Given the description of an element on the screen output the (x, y) to click on. 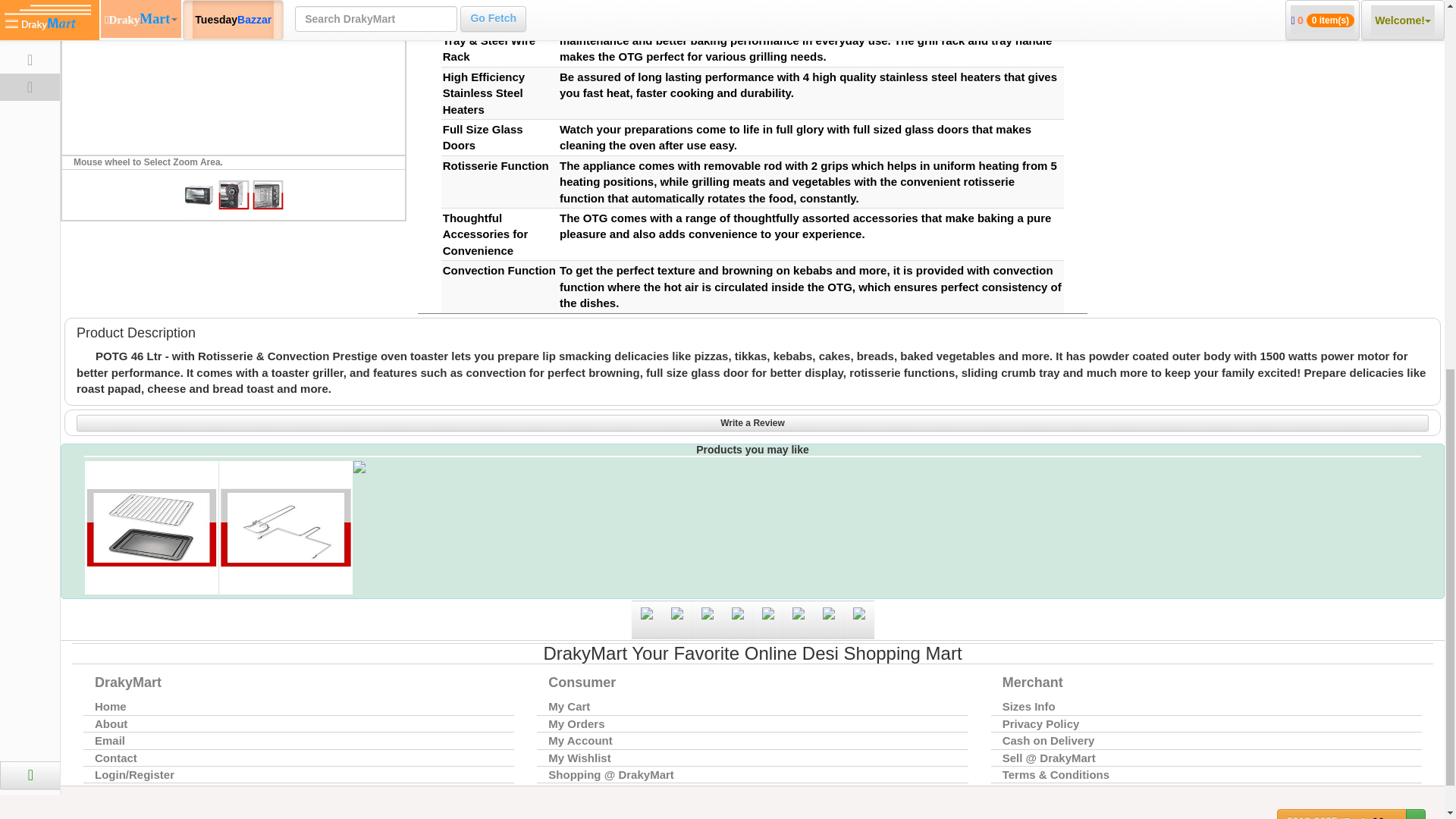
Login (94, 70)
About (297, 723)
Login (94, 70)
Home (297, 706)
Write a Review (752, 422)
